Given the description of an element on the screen output the (x, y) to click on. 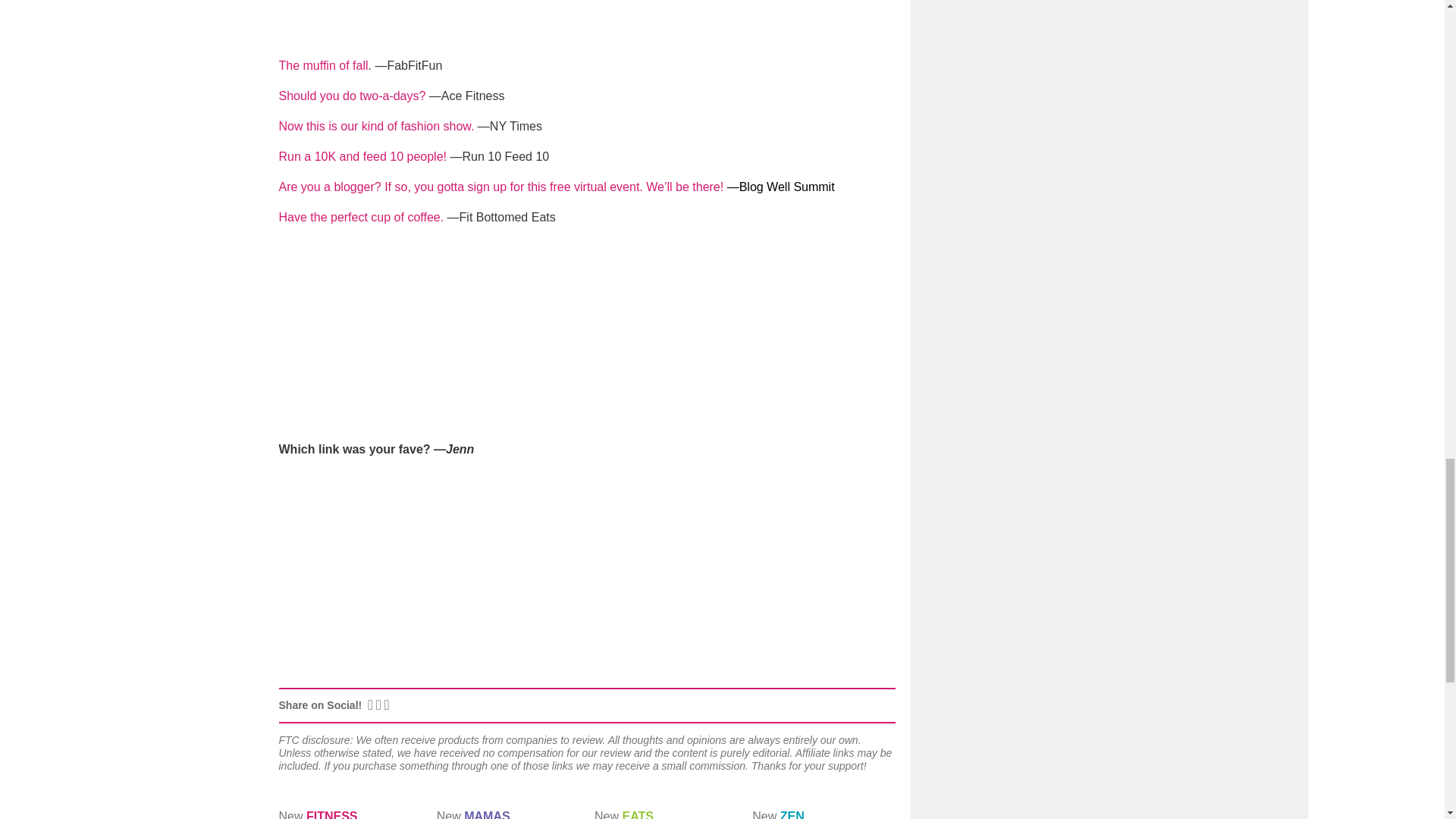
run 10 feed 10 (362, 155)
fit fashion models (376, 125)
two-a-day workouts (352, 95)
perfect cup of coffee (362, 216)
pumpkin cranberry muffins (323, 65)
blog well summit (501, 186)
